Given the description of an element on the screen output the (x, y) to click on. 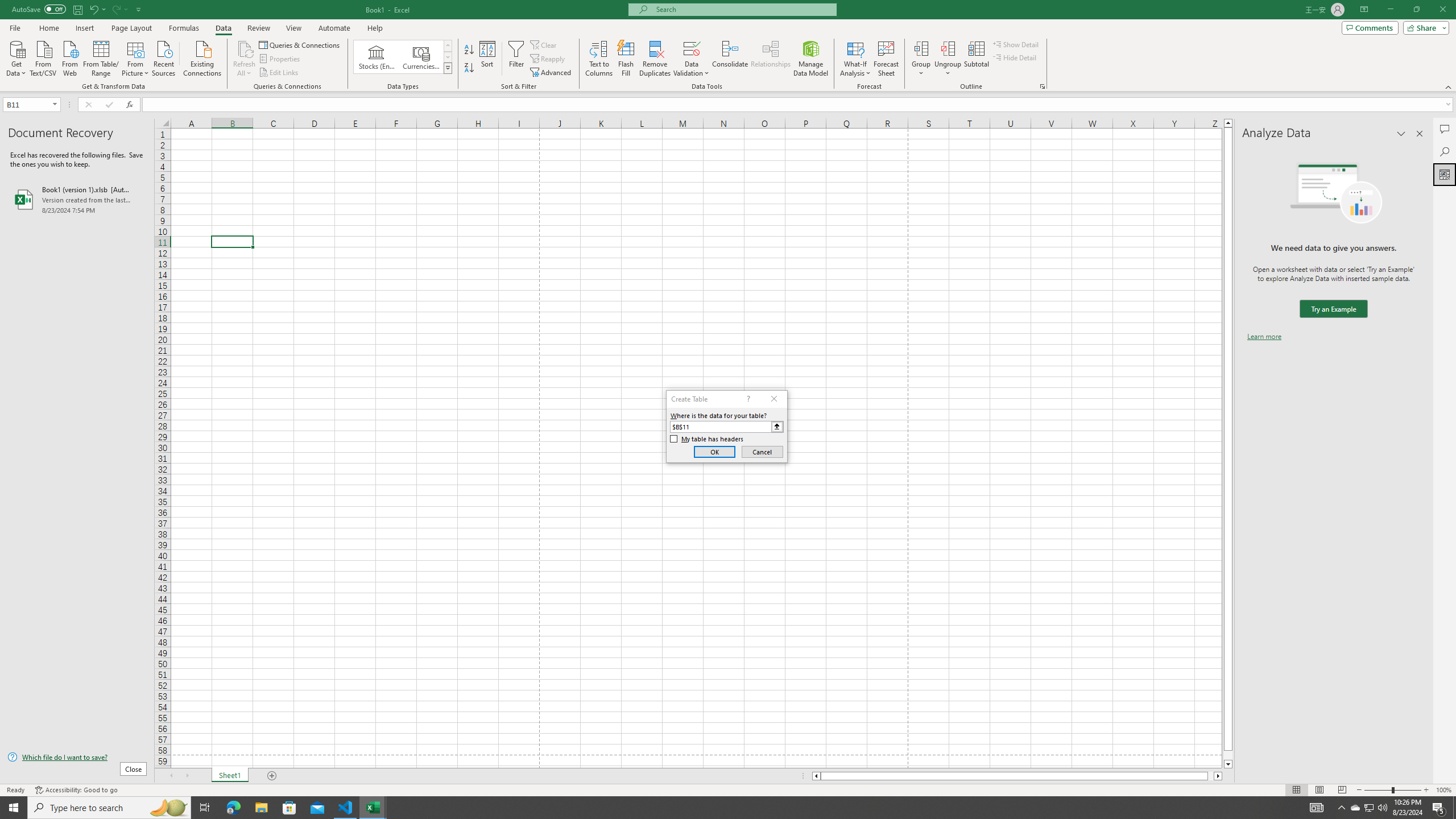
Learn more (1264, 336)
